Given the description of an element on the screen output the (x, y) to click on. 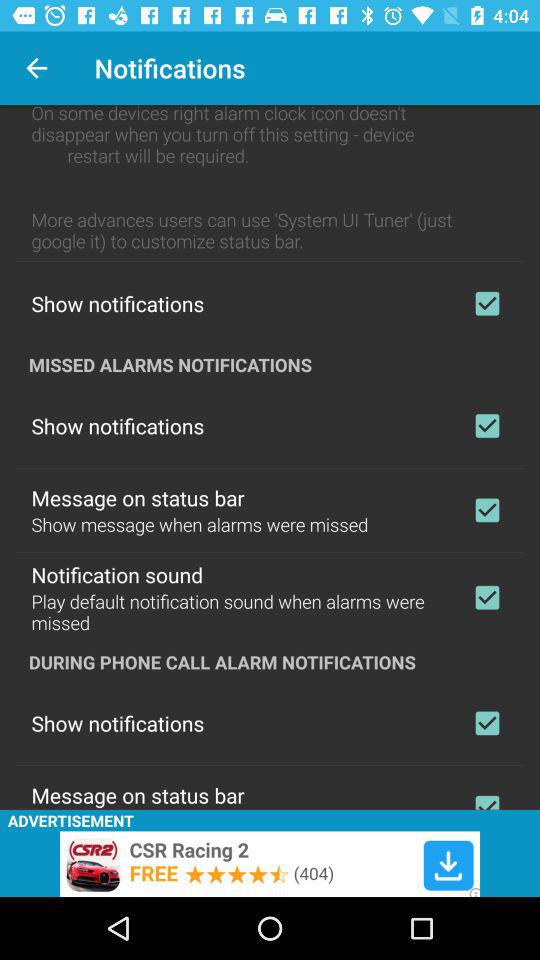
go to carroct botten (487, 510)
